Given the description of an element on the screen output the (x, y) to click on. 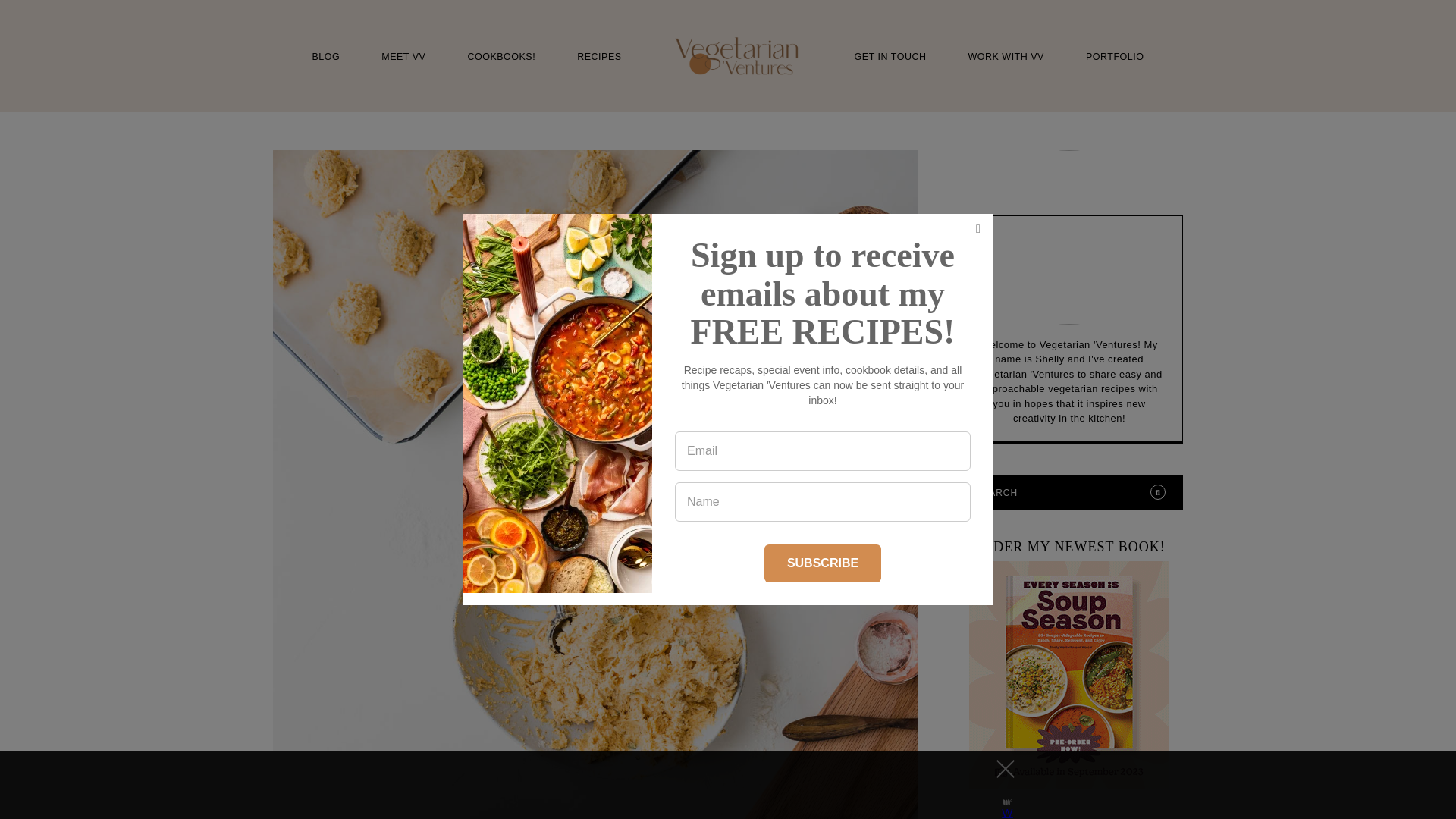
BLOG (326, 57)
MEET VV (403, 57)
3rd party ad content (708, 785)
RECIPES (598, 57)
COOKBOOKS! (501, 57)
